Given the description of an element on the screen output the (x, y) to click on. 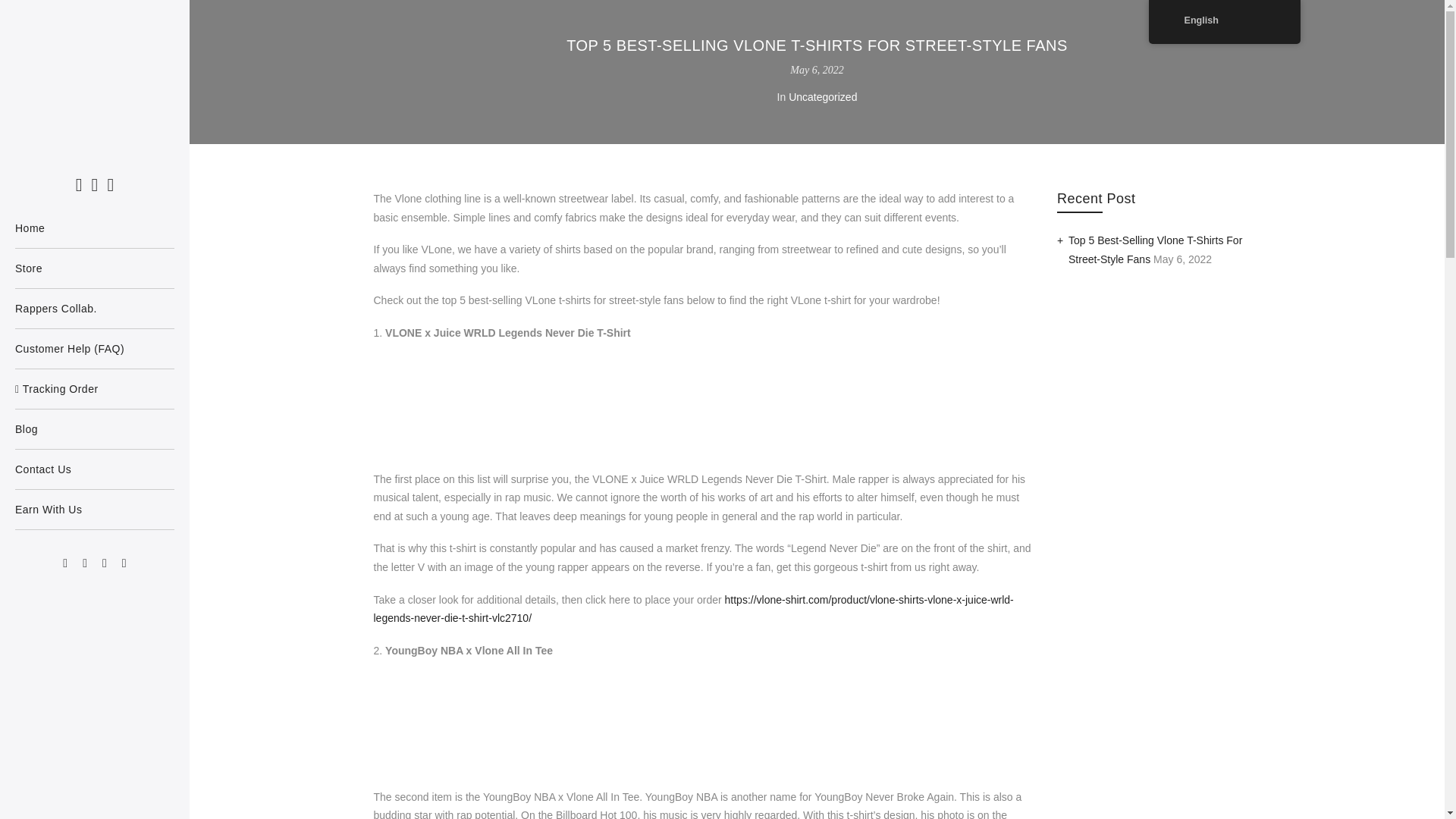
Blog (94, 428)
Store (94, 268)
Home (94, 228)
Contact Us (94, 468)
Earn With Us (94, 509)
English (1172, 20)
Rappers Collab. (94, 308)
Uncategorized (823, 96)
